Given the description of an element on the screen output the (x, y) to click on. 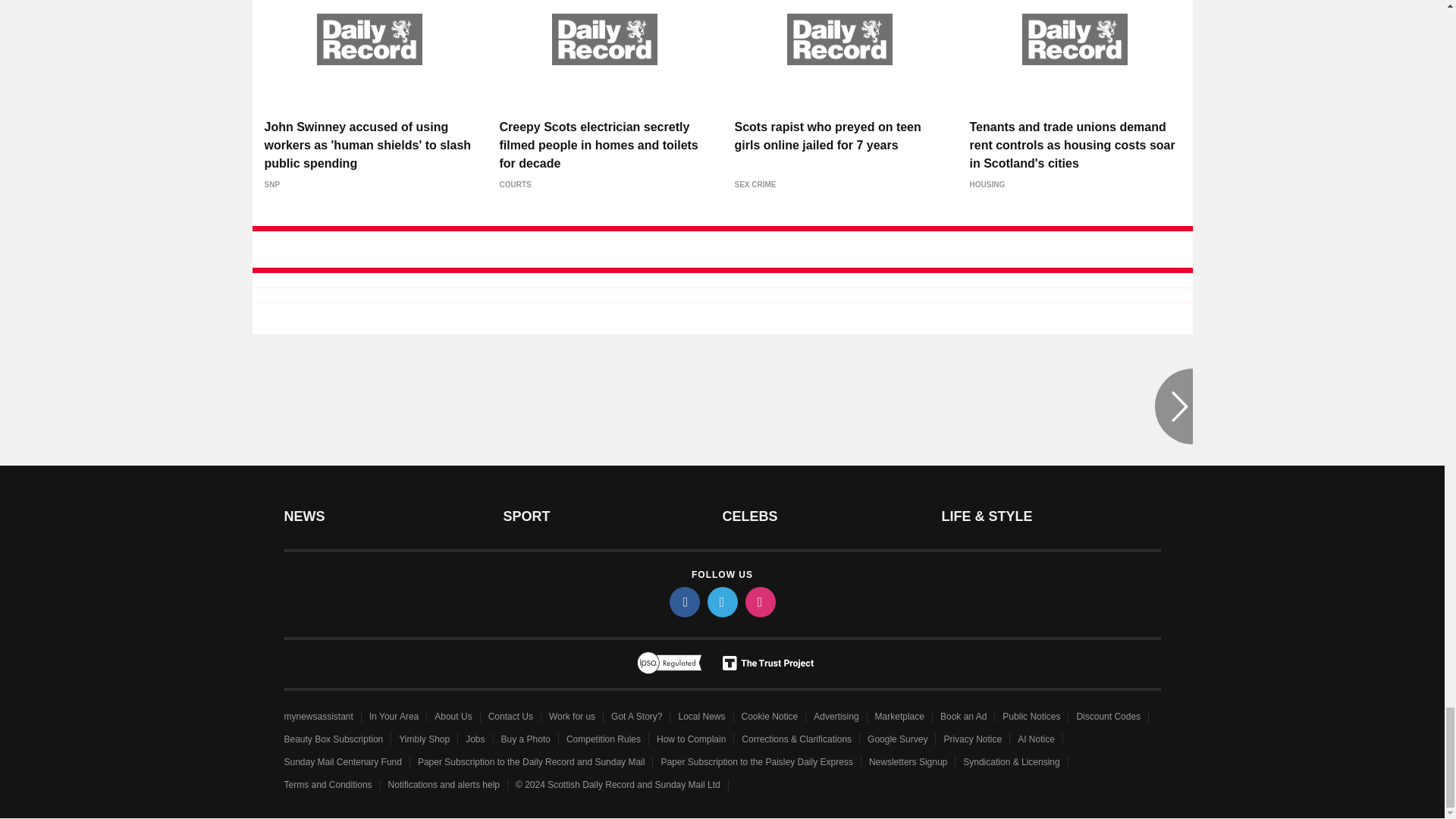
twitter (721, 602)
facebook (683, 602)
instagram (759, 602)
